Given the description of an element on the screen output the (x, y) to click on. 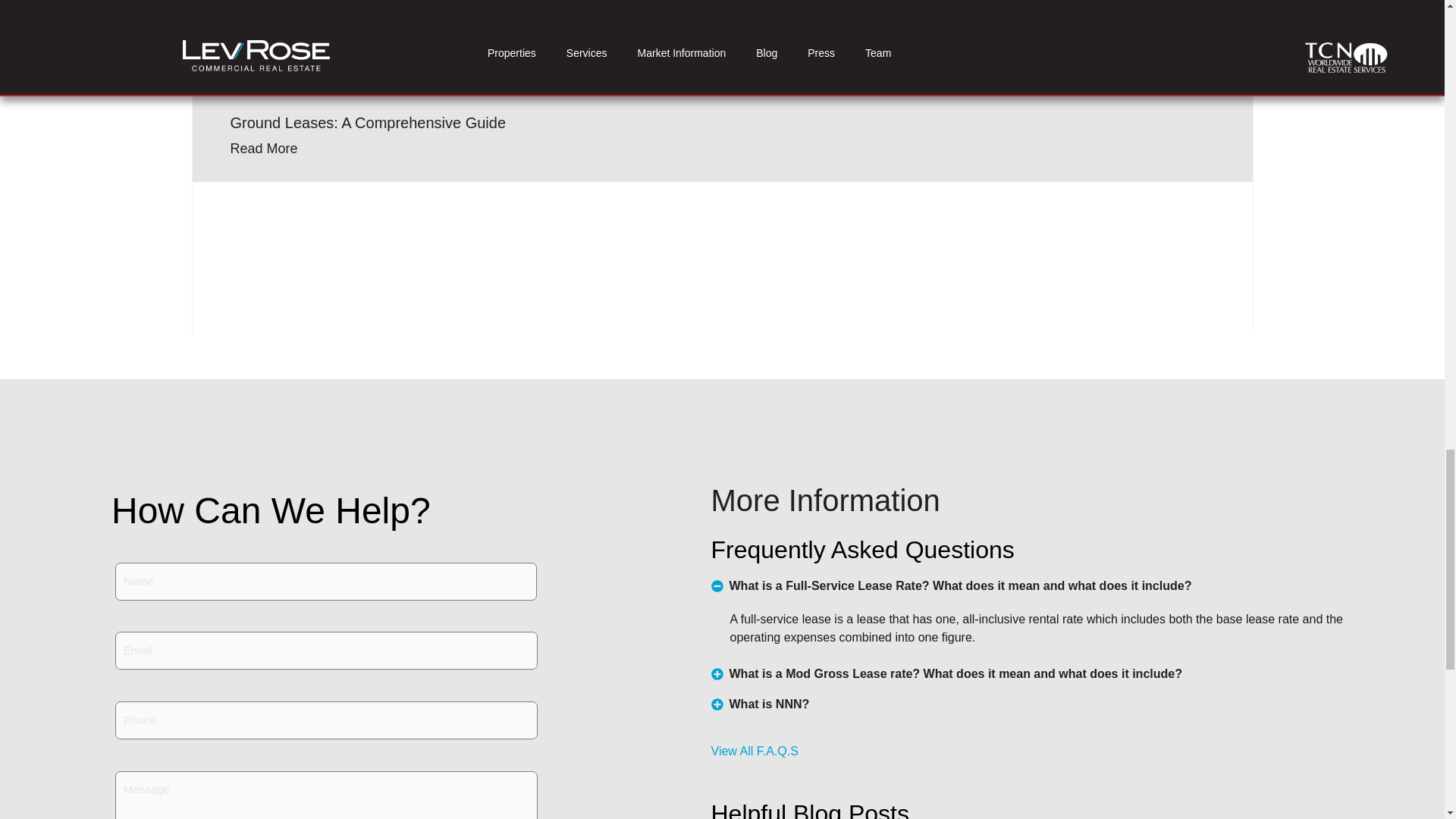
Ground Leases: A Comprehensive Guide (368, 122)
Read More (264, 148)
